Given the description of an element on the screen output the (x, y) to click on. 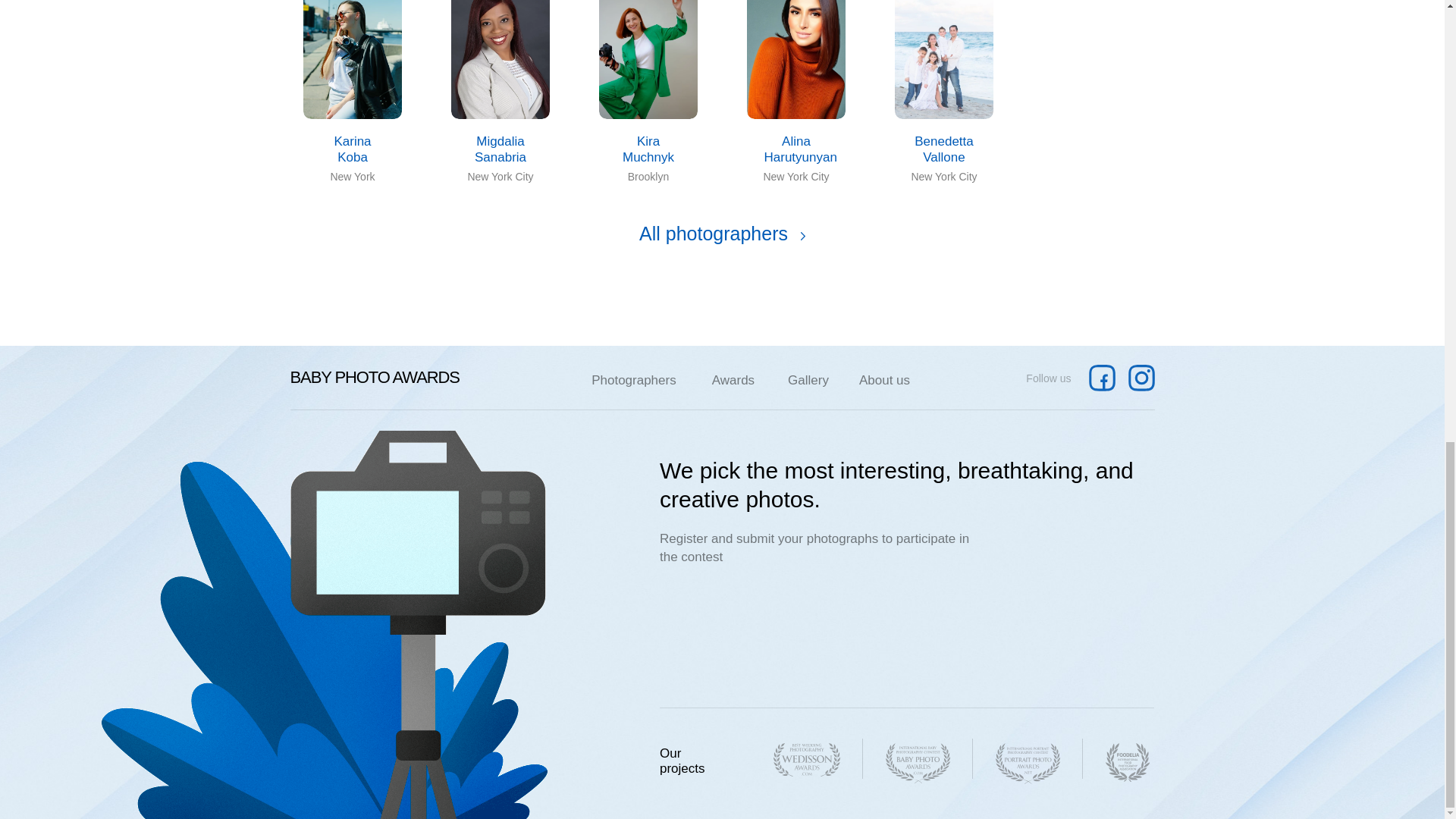
BABY PHOTO AWARDS (373, 376)
Photographers (633, 379)
Gallery (808, 379)
All photographers (722, 234)
Awards (732, 379)
